Given the description of an element on the screen output the (x, y) to click on. 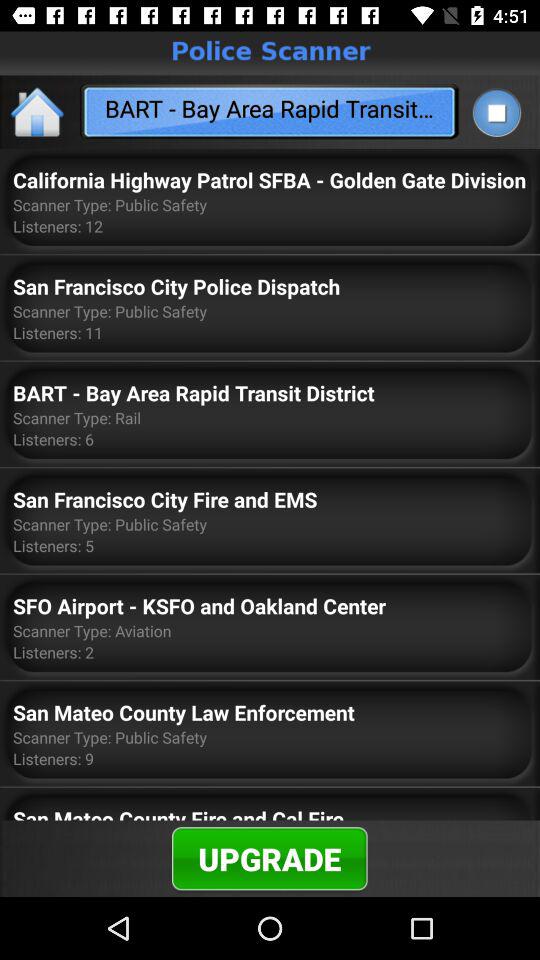
go home (38, 111)
